Given the description of an element on the screen output the (x, y) to click on. 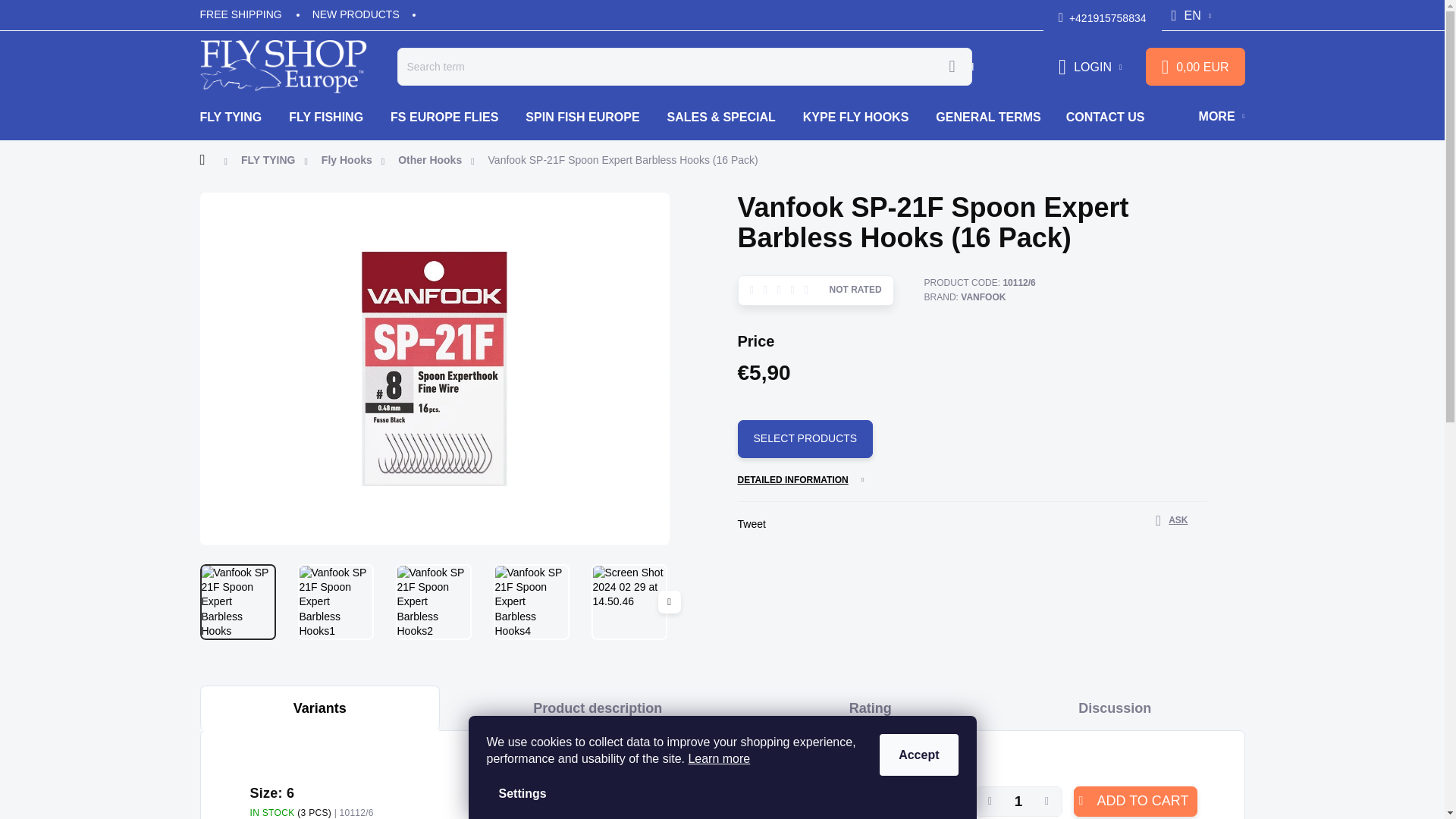
NEW PRODUCTS (355, 14)
LOGIN (1090, 66)
1 (1018, 801)
FLY TYING (238, 117)
Speak to a sales advisor (1172, 520)
FREE SHIPPING (248, 14)
SEARCH (952, 66)
